Given the description of an element on the screen output the (x, y) to click on. 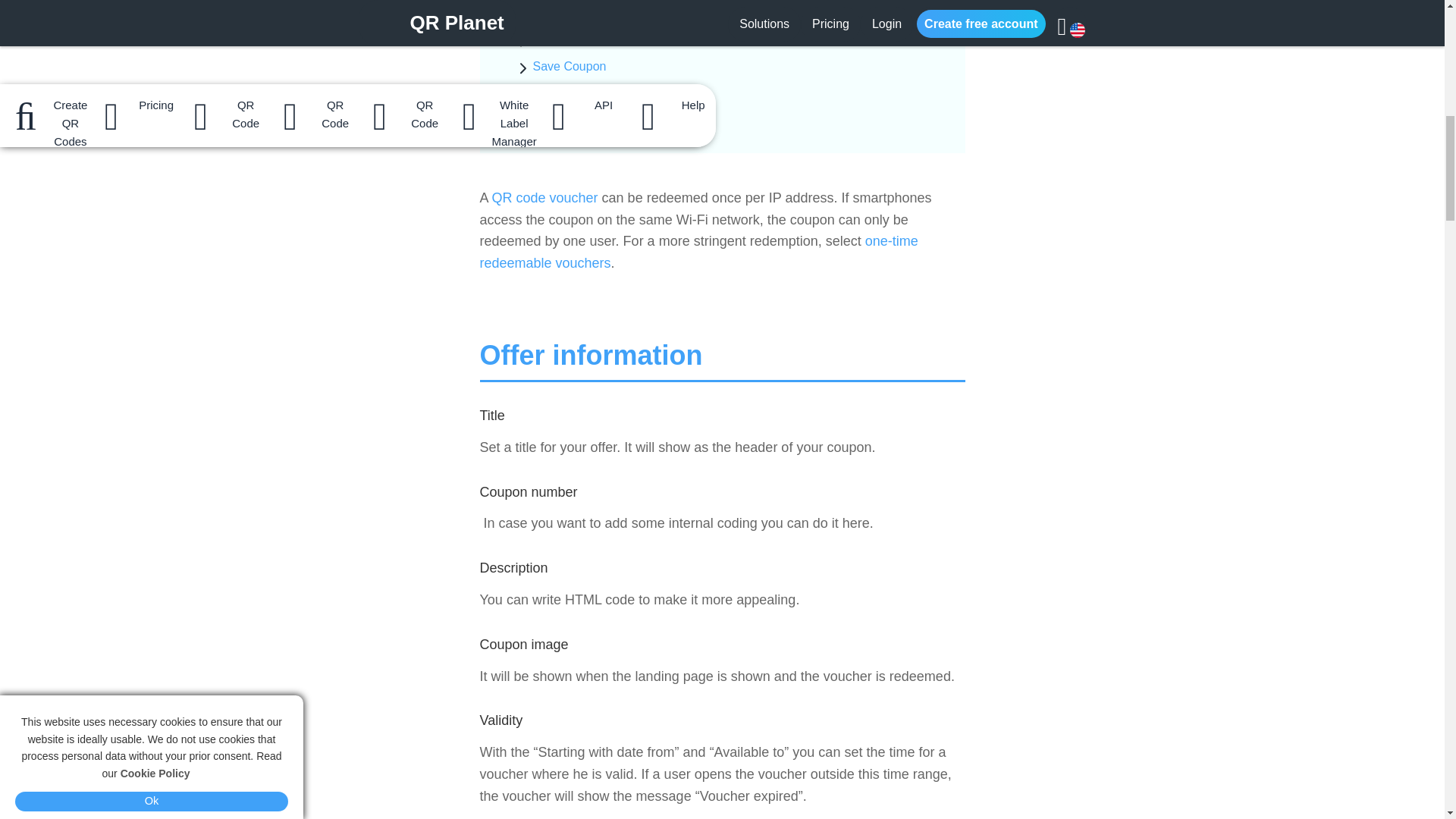
QR code voucher (545, 197)
Password Protection (587, 92)
EAN-13 Barcode (577, 119)
Sharing Coupon (576, 39)
Extras (526, 11)
Save Coupon (568, 65)
